Given the description of an element on the screen output the (x, y) to click on. 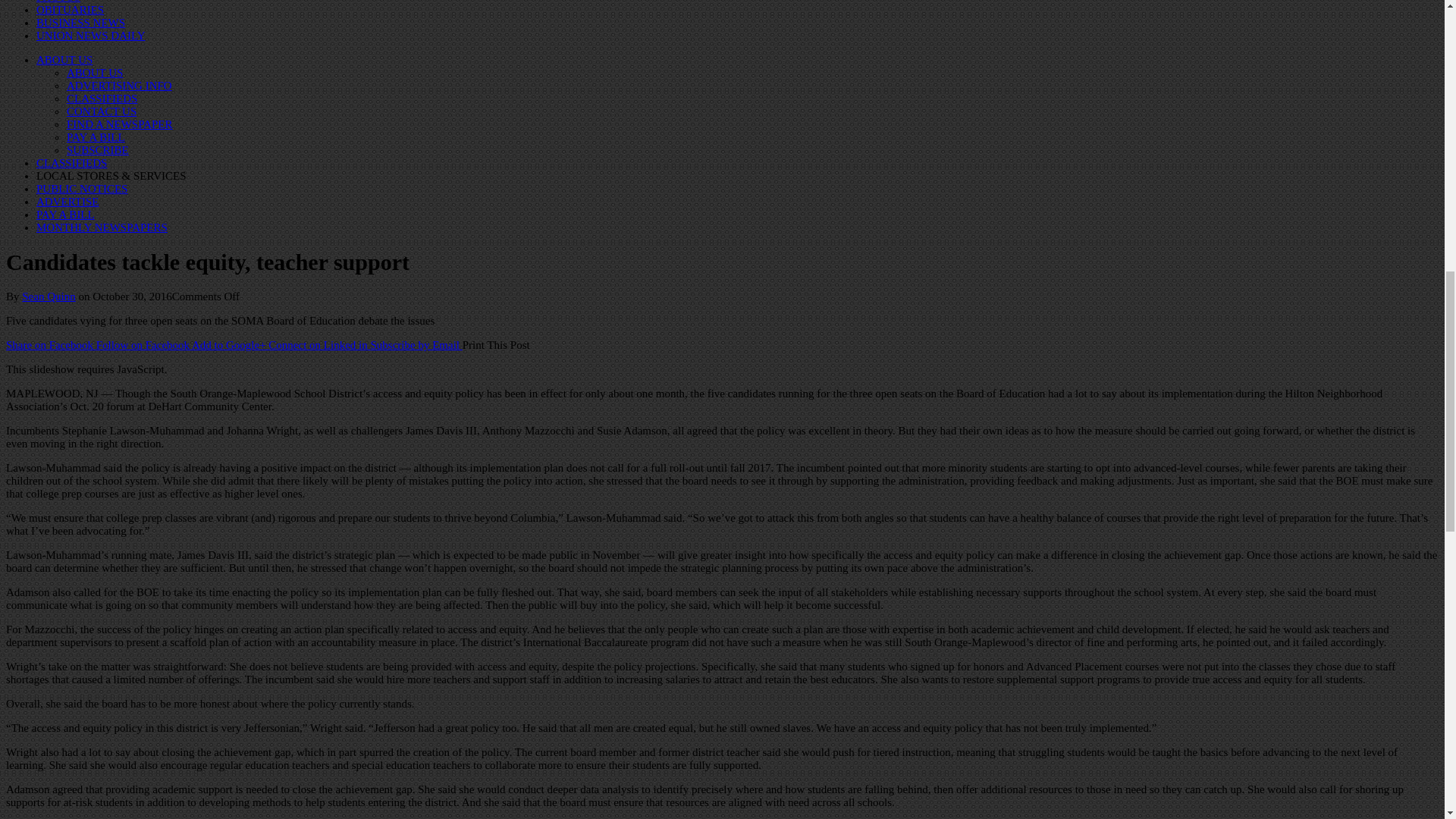
Share on Twitter (144, 345)
Share on LinkedIn (318, 345)
Print This Post (496, 345)
Send by Email (417, 345)
Union County News Website (90, 35)
Share on Facebook (50, 345)
